Given the description of an element on the screen output the (x, y) to click on. 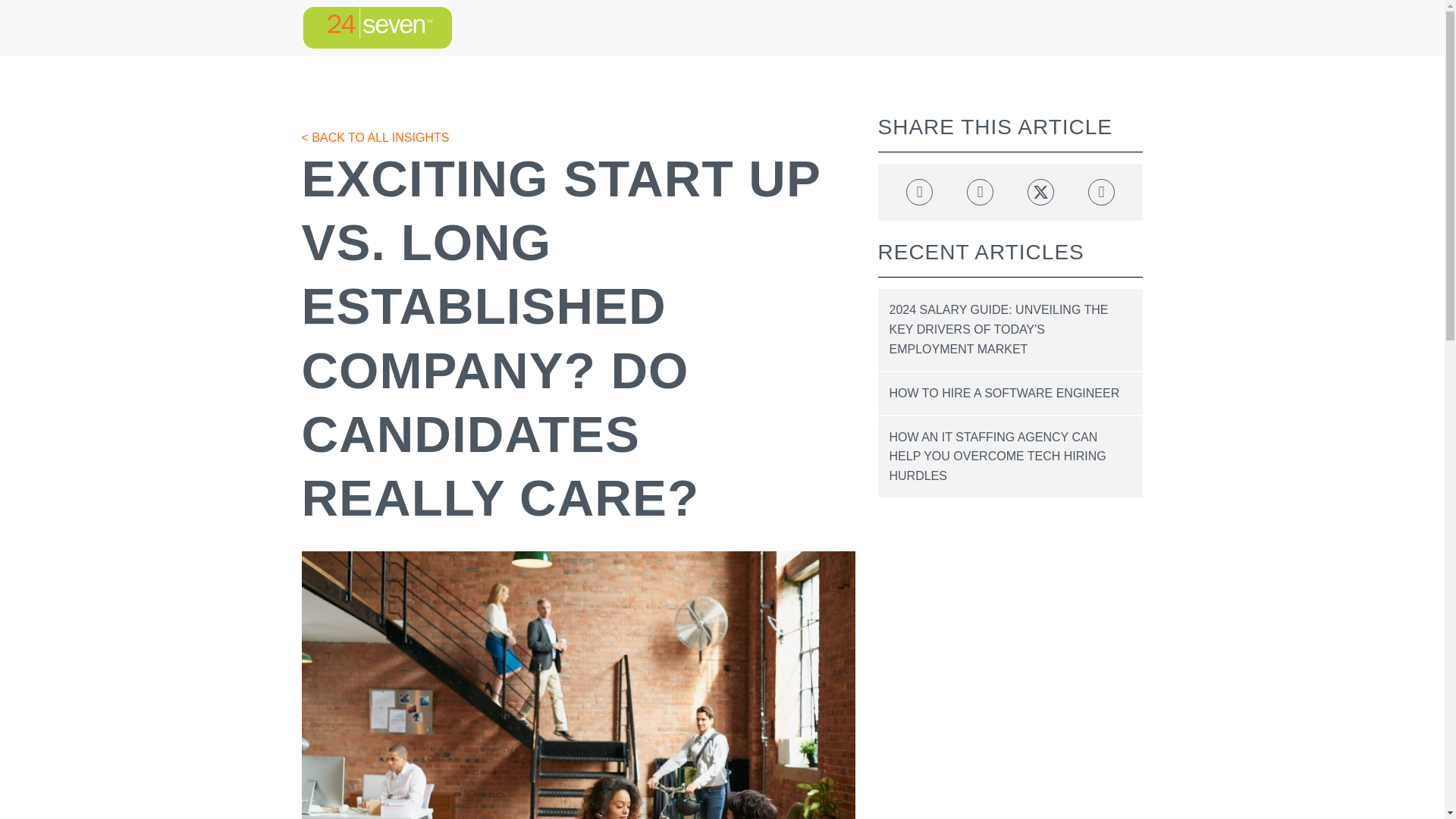
24 Seven (376, 27)
Facebook (919, 192)
24 Seven (376, 27)
24 Seven Talent (376, 27)
linkedin (979, 192)
Twitter (1040, 192)
Email (1101, 192)
